Given the description of an element on the screen output the (x, y) to click on. 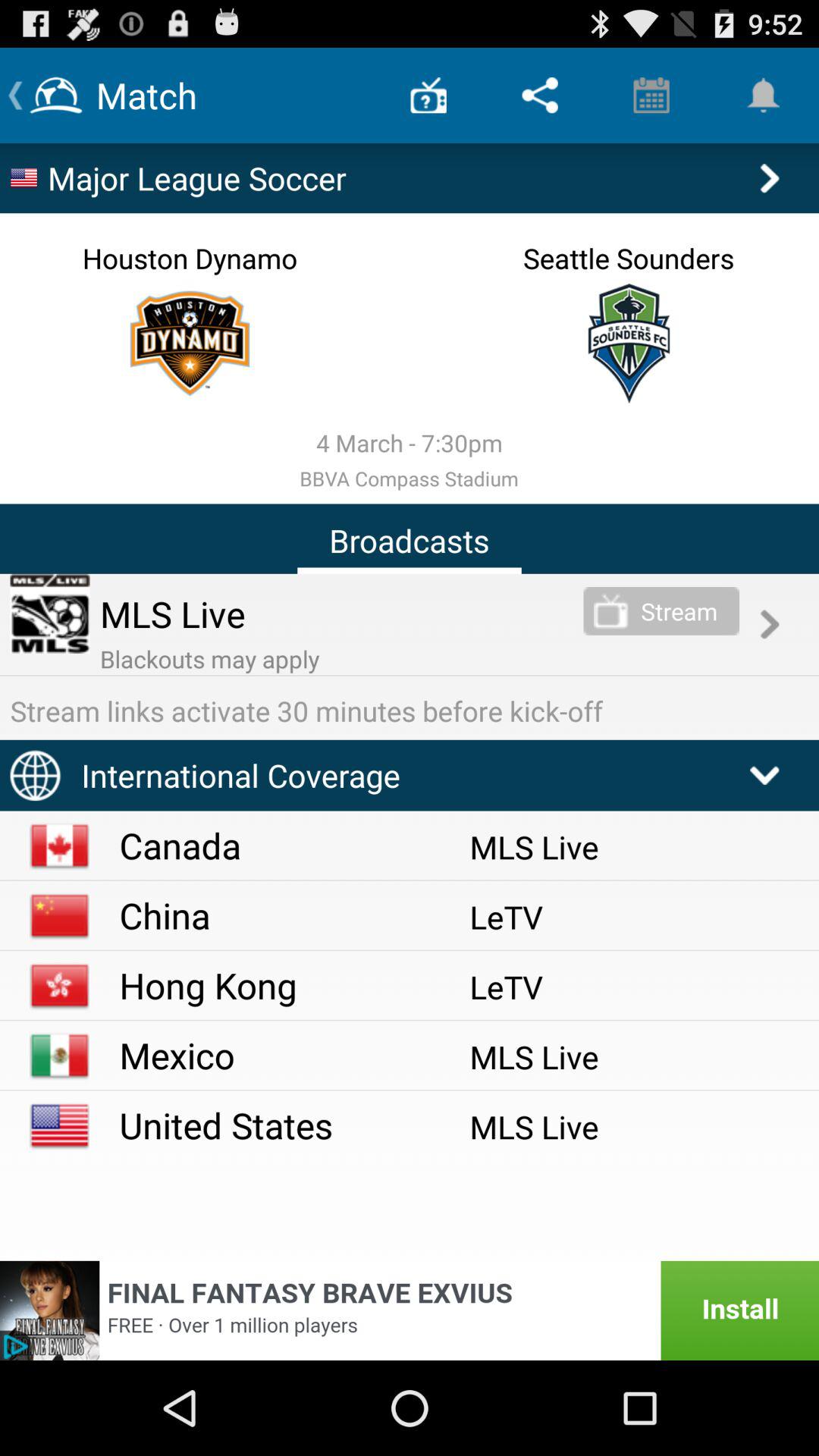
open final fantasy brave exvius advertisement (409, 1310)
